Given the description of an element on the screen output the (x, y) to click on. 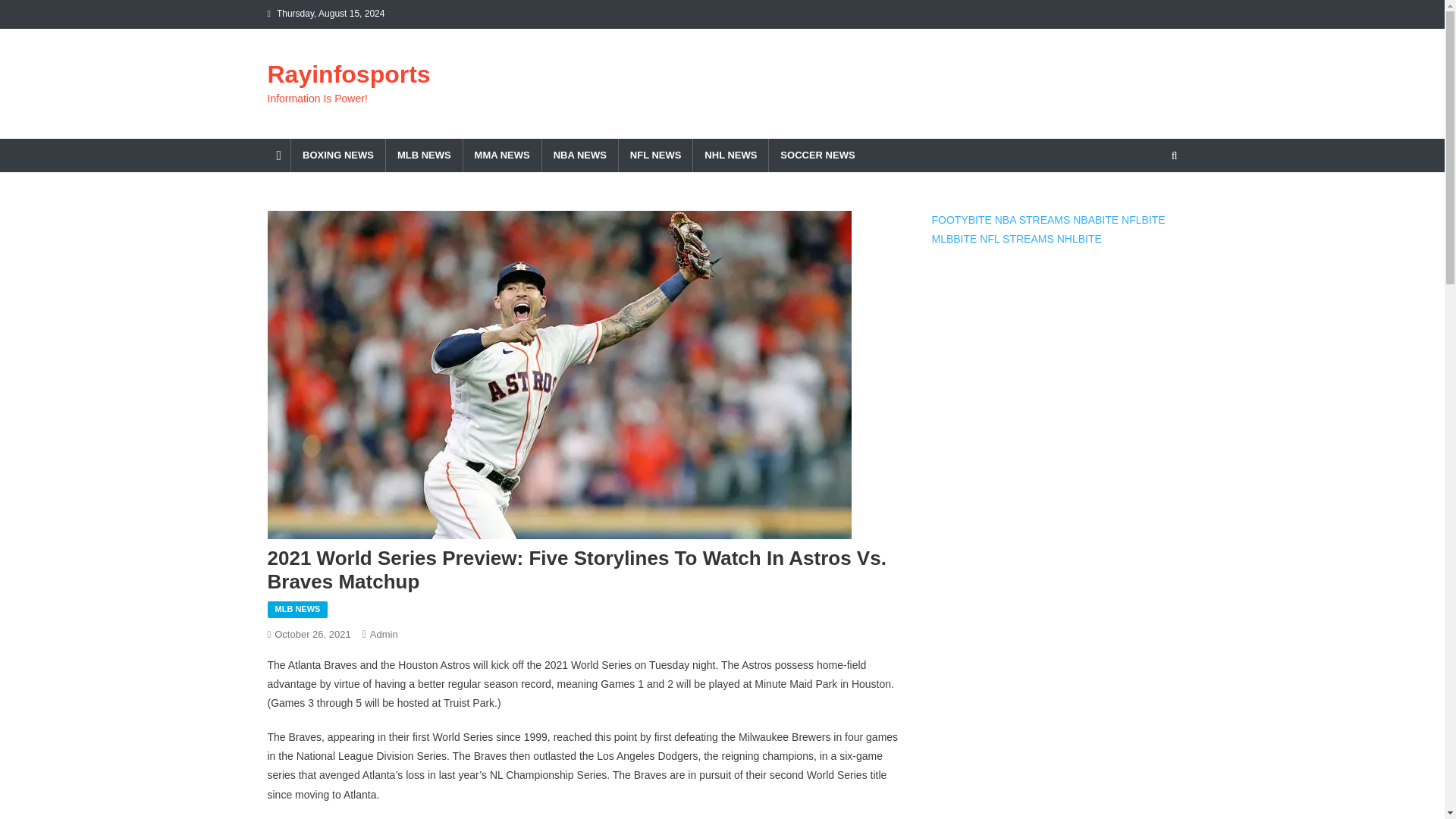
NHL NEWS (730, 154)
NHLBITE (1079, 238)
NFLBITE (1143, 219)
October 26, 2021 (312, 633)
Admin (383, 633)
MMA NEWS (502, 154)
NFL STREAMS (1016, 238)
MLB NEWS (424, 154)
Rayinfosports (347, 73)
NBA NEWS (579, 154)
